Given the description of an element on the screen output the (x, y) to click on. 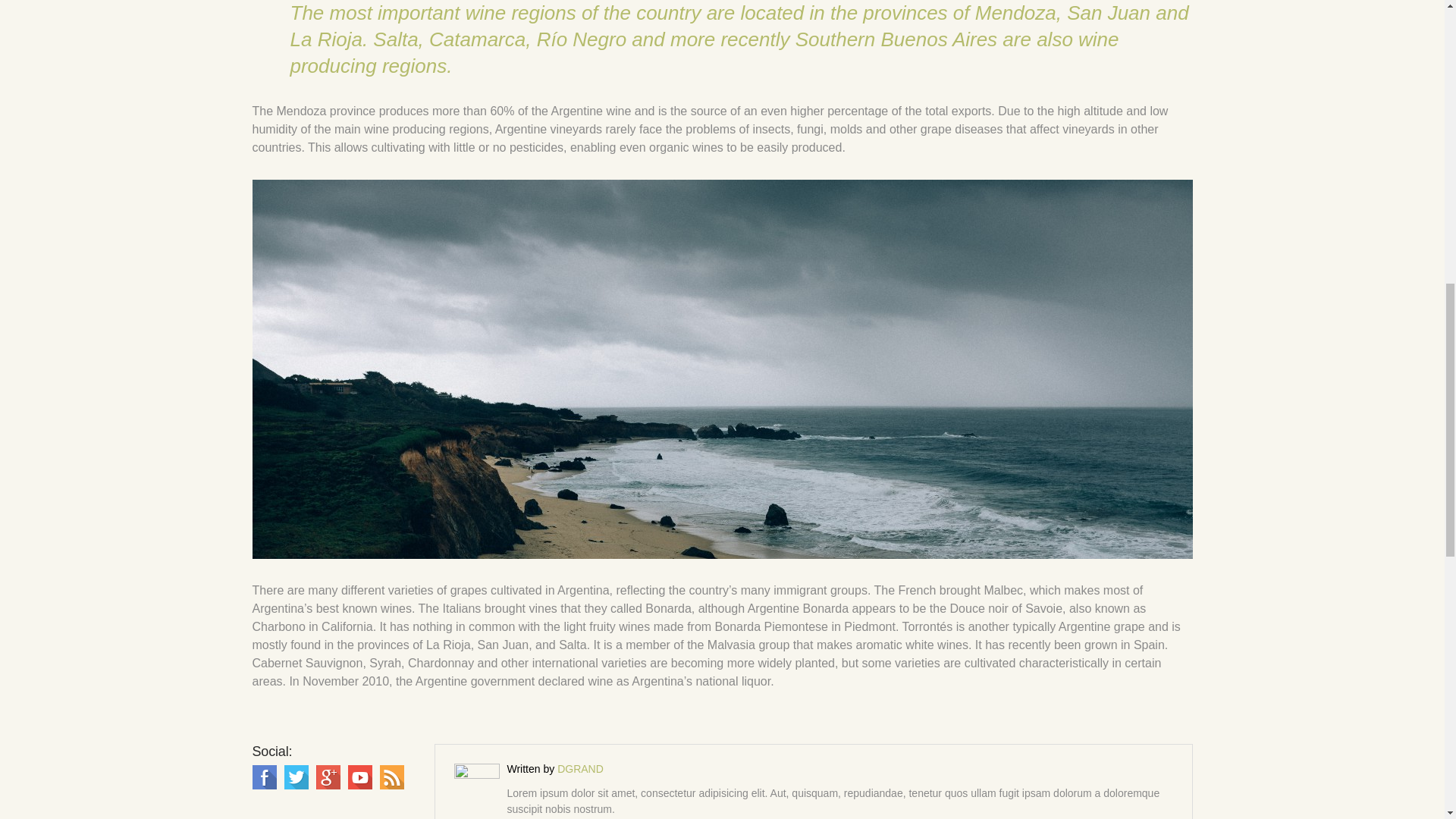
Youtube (359, 776)
RSS (390, 776)
Facebook (263, 776)
Twitter (295, 776)
